Given the description of an element on the screen output the (x, y) to click on. 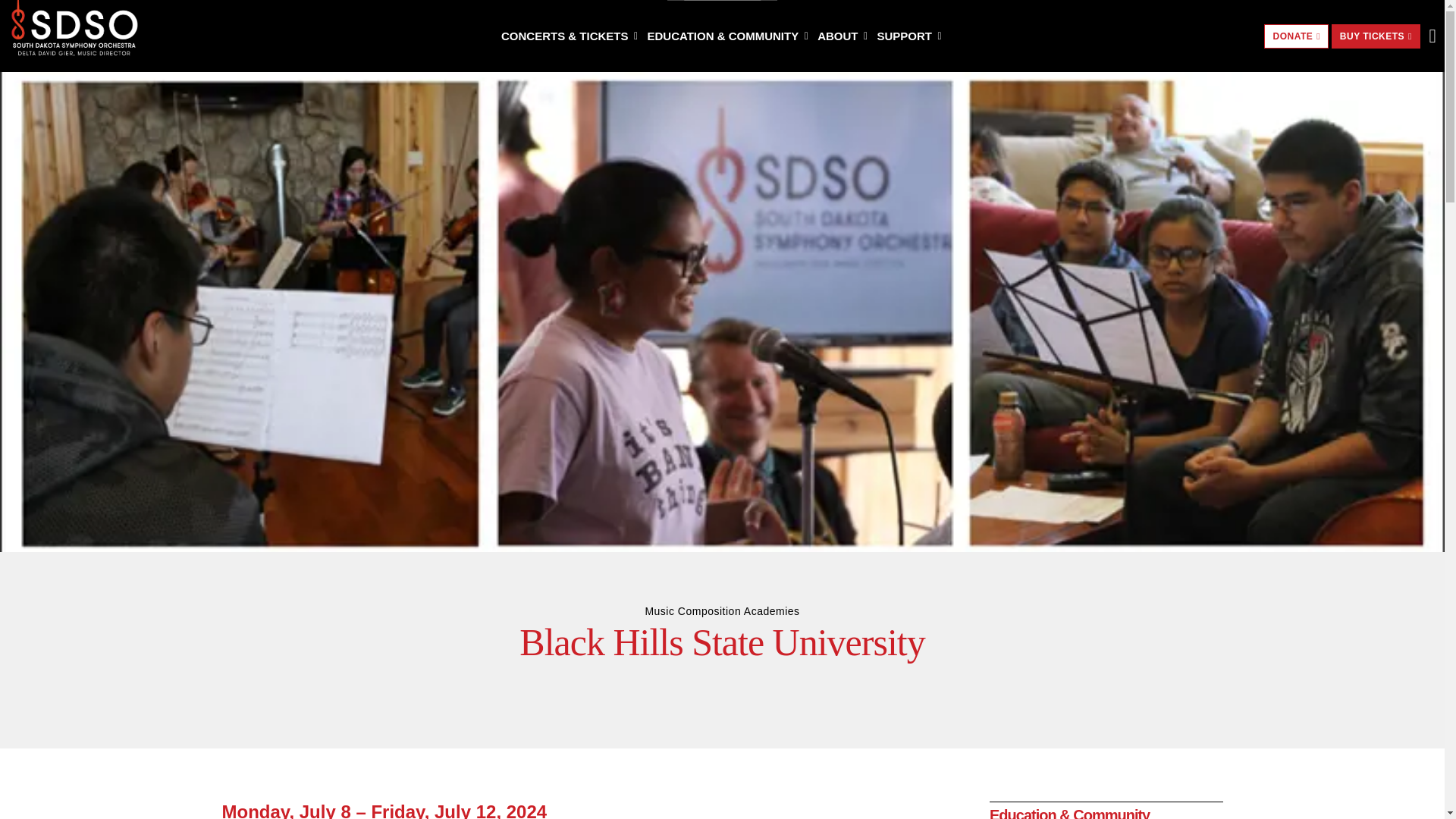
SUPPORT (910, 36)
South Dakota Symphony Orchestra (74, 30)
BUY TICKETS (1376, 36)
DONATE (1295, 36)
